Given the description of an element on the screen output the (x, y) to click on. 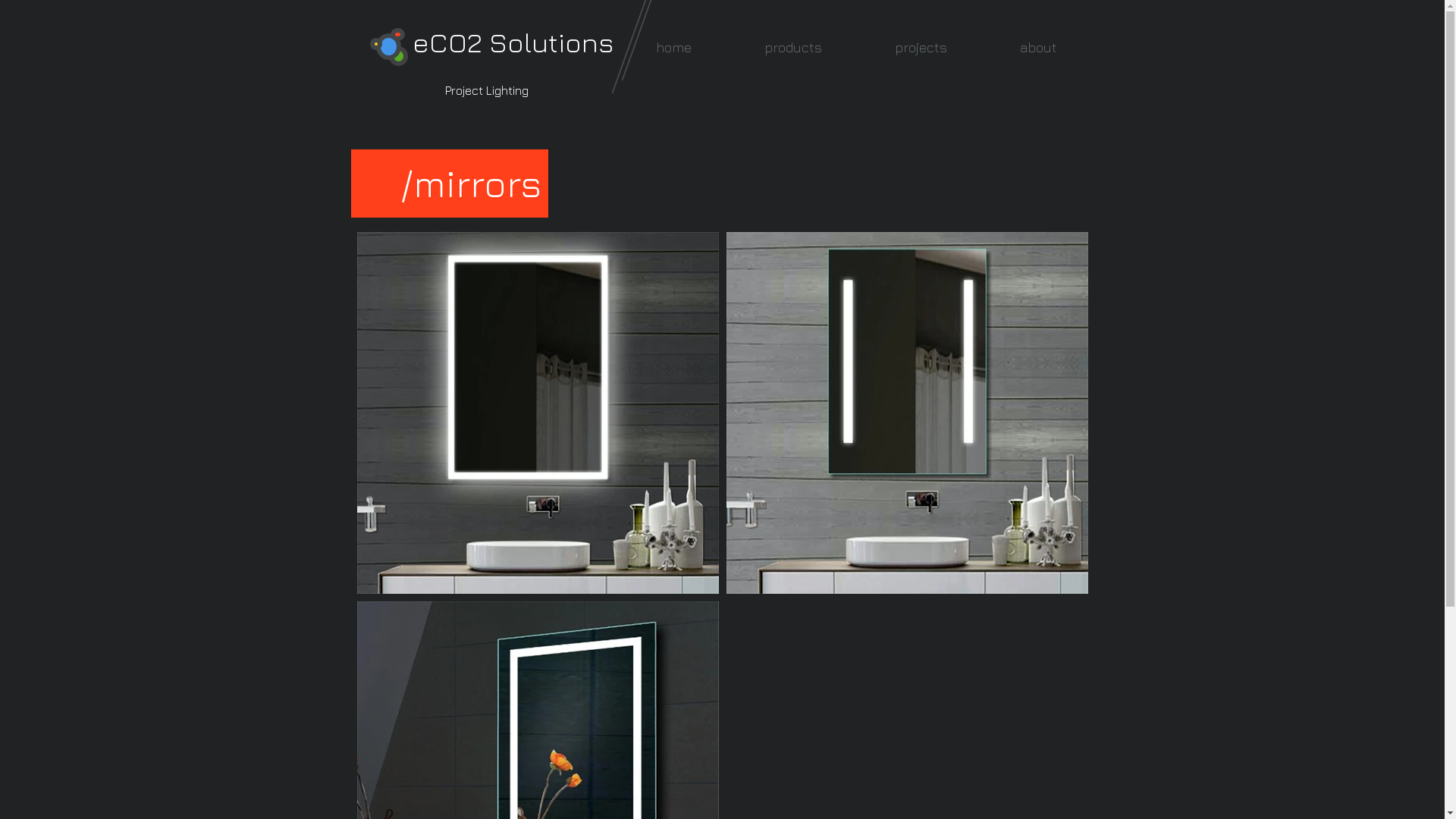
about Element type: text (1037, 47)
projects Element type: text (920, 47)
home Element type: text (672, 47)
eCO2 Solutions Element type: text (512, 41)
